Given the description of an element on the screen output the (x, y) to click on. 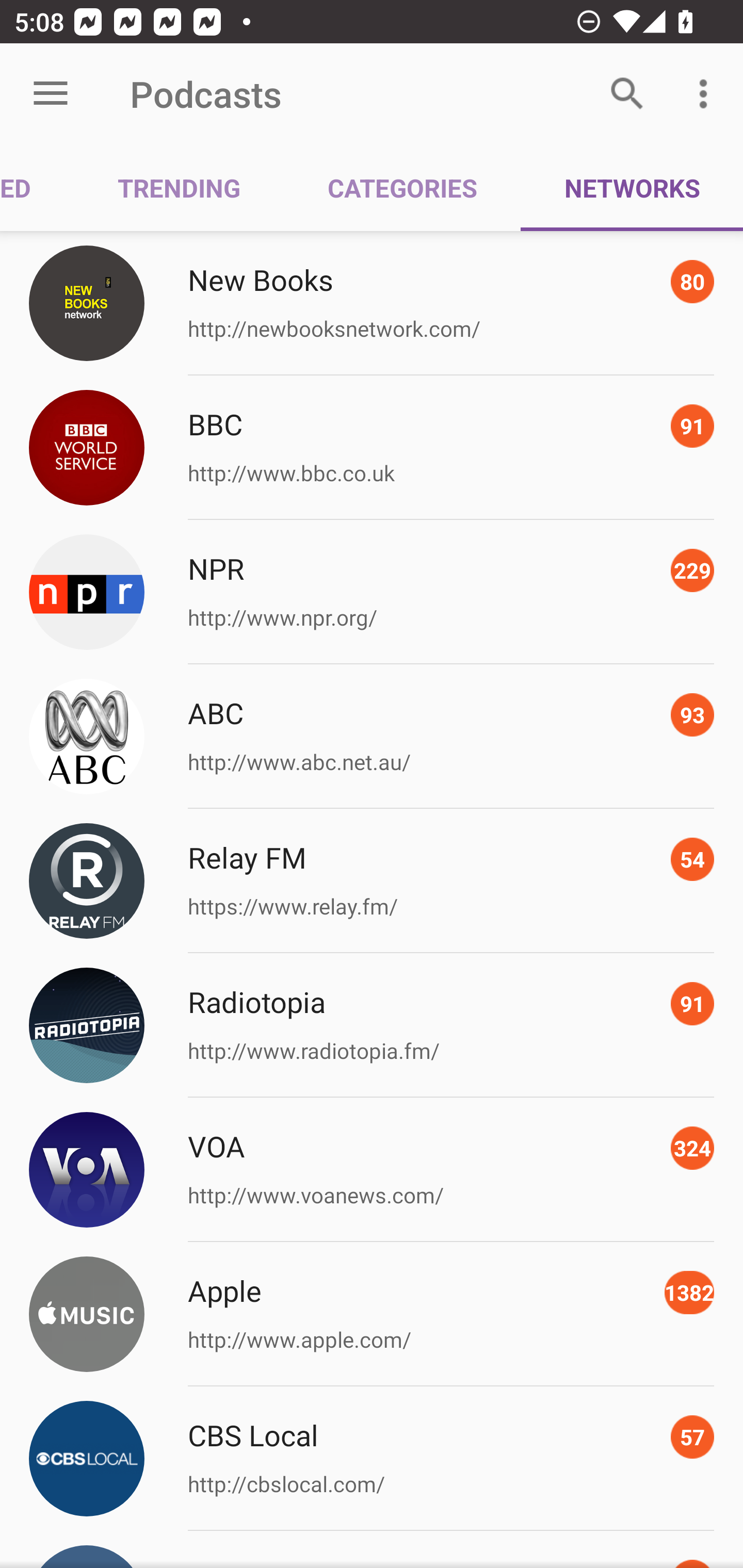
Open menu (50, 93)
Search (626, 93)
More options (706, 93)
TRENDING (178, 187)
CATEGORIES (401, 187)
NETWORKS (631, 187)
Picture New Books 80 http://newbooksnetwork.com/ (371, 302)
Picture BBC 91 http://www.bbc.co.uk (371, 447)
Picture NPR 229 http://www.npr.org/ (371, 592)
Picture ABC 93 http://www.abc.net.au/ (371, 736)
Picture Relay FM 54 https://www.relay.fm/ (371, 881)
Picture Radiotopia 91 http://www.radiotopia.fm/ (371, 1025)
Picture VOA 324 http://www.voanews.com/ (371, 1169)
Picture Apple 1382 http://www.apple.com/ (371, 1313)
Picture CBS Local 57 http://cbslocal.com/ (371, 1458)
